Given the description of an element on the screen output the (x, y) to click on. 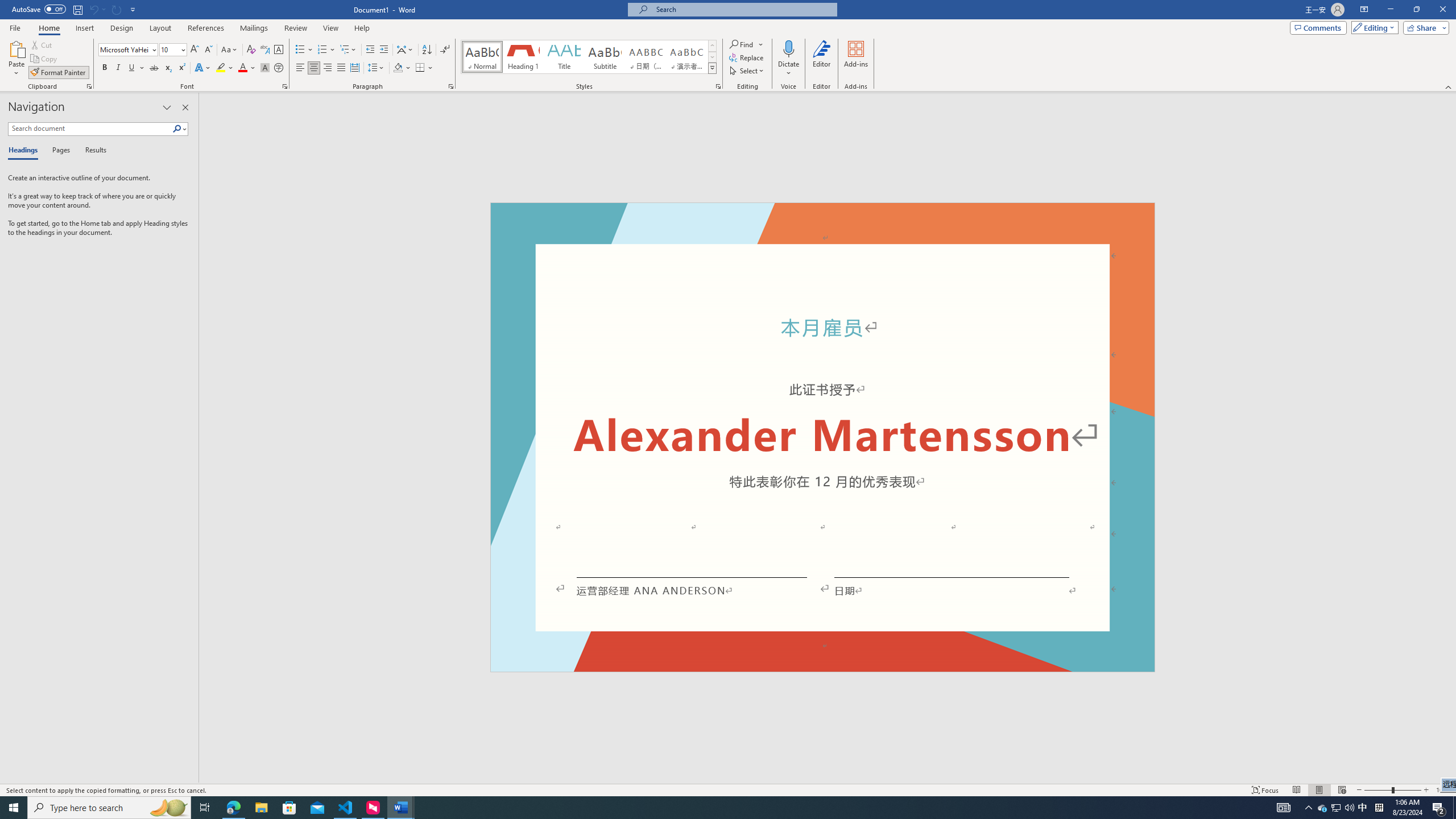
Task Pane Options (167, 107)
Asian Layout (405, 49)
Numbering (322, 49)
Increase Indent (383, 49)
Show/Hide Editing Marks (444, 49)
Dictate (788, 58)
Office Clipboard... (88, 85)
